Given the description of an element on the screen output the (x, y) to click on. 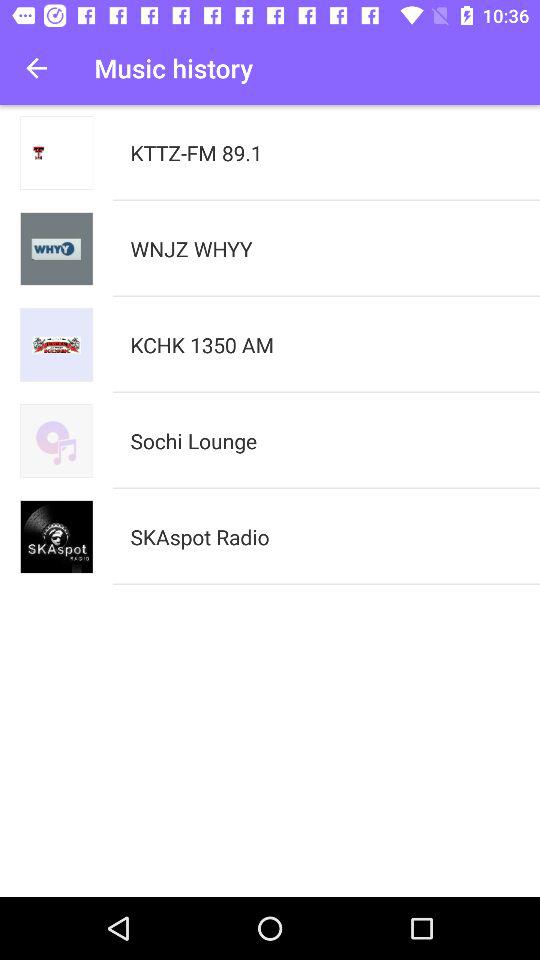
turn off the item to the left of music history icon (36, 68)
